Given the description of an element on the screen output the (x, y) to click on. 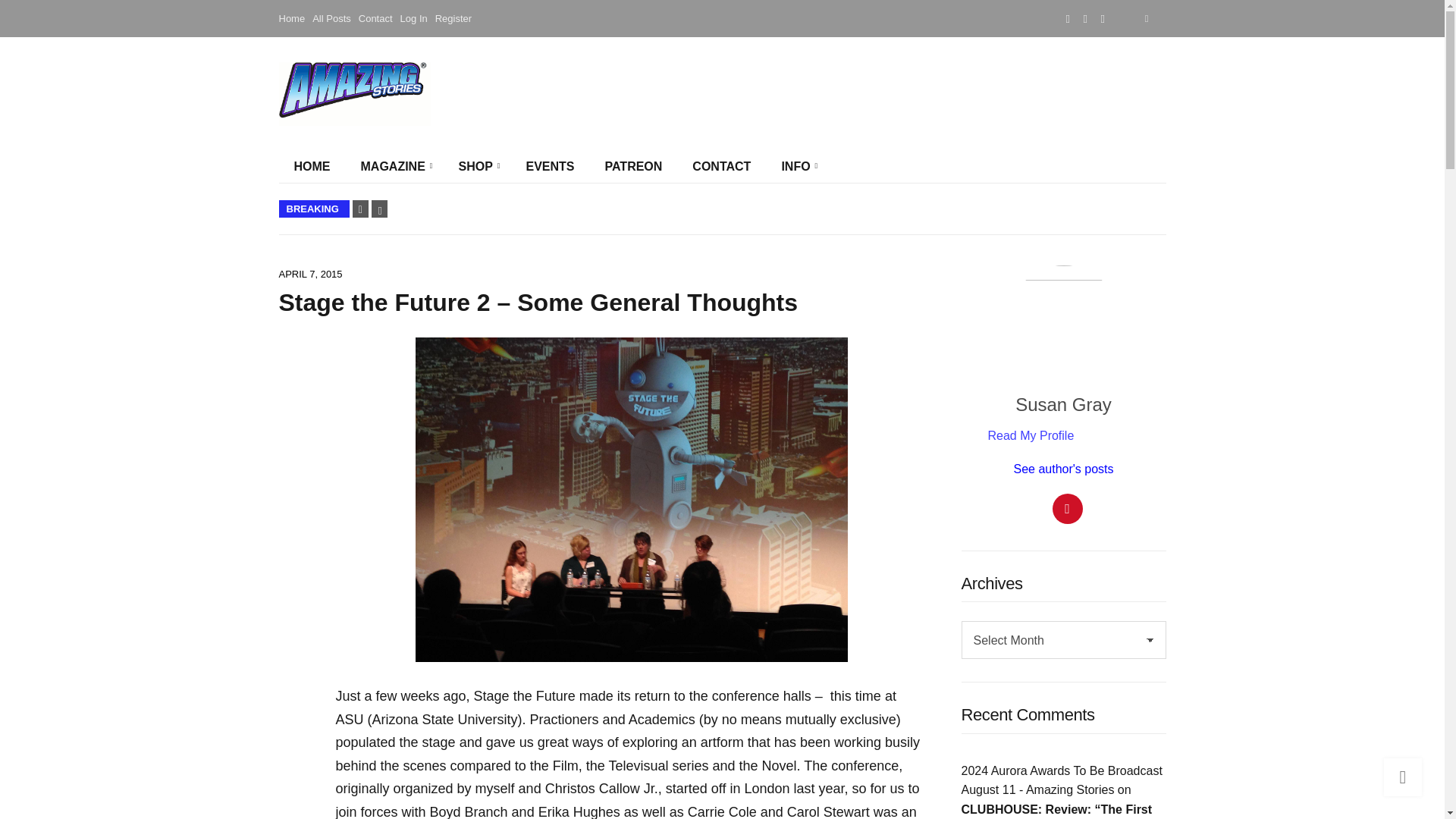
CONTACT (721, 166)
SHOP (476, 166)
Twitter (1085, 18)
INFO (796, 166)
Log In (414, 18)
PATREON (633, 166)
EVENTS (550, 166)
MAGAZINE (395, 166)
Register (453, 18)
Home (292, 18)
